Given the description of an element on the screen output the (x, y) to click on. 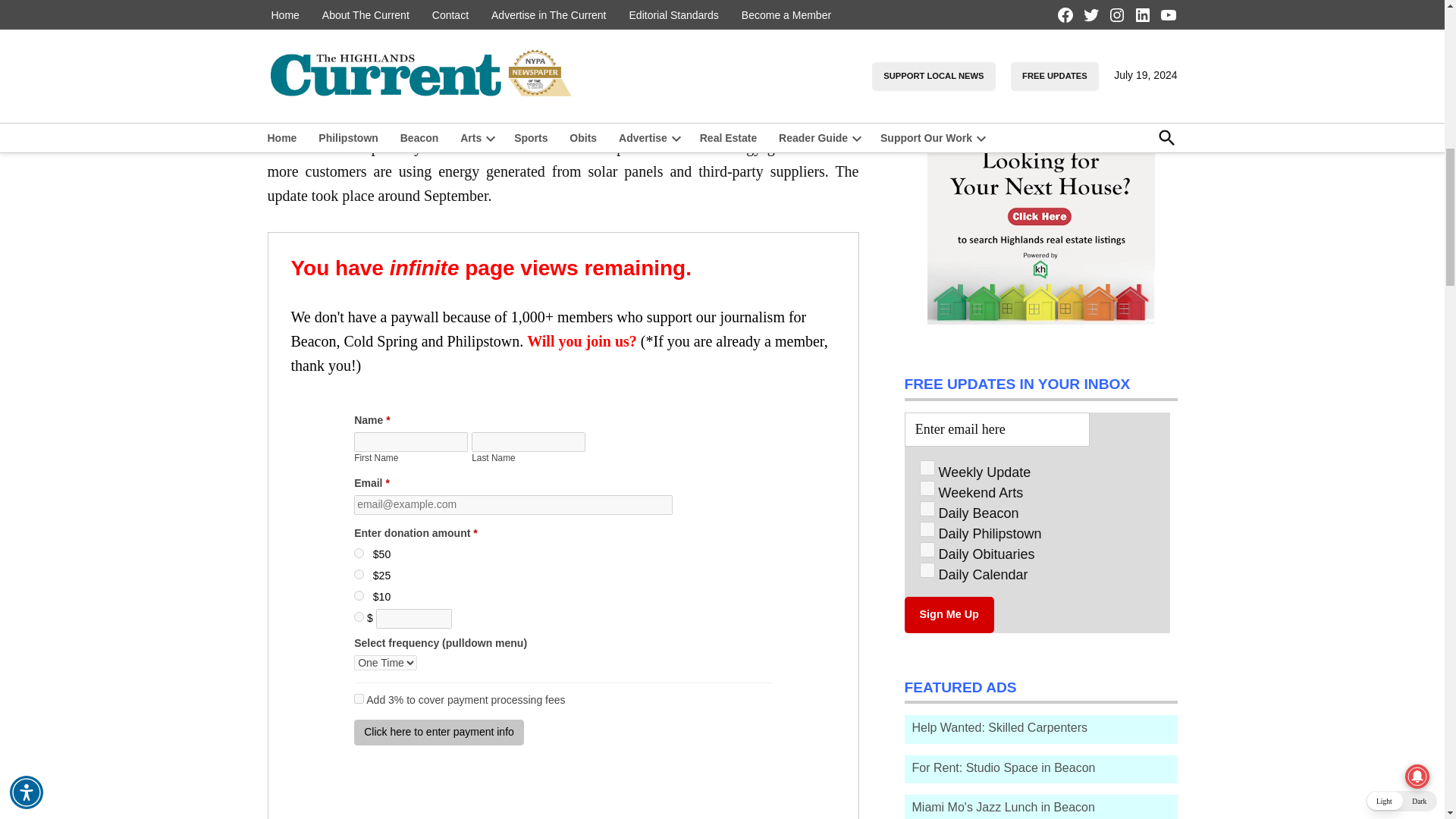
Enter email here (996, 429)
Sign Me Up (948, 615)
